Given the description of an element on the screen output the (x, y) to click on. 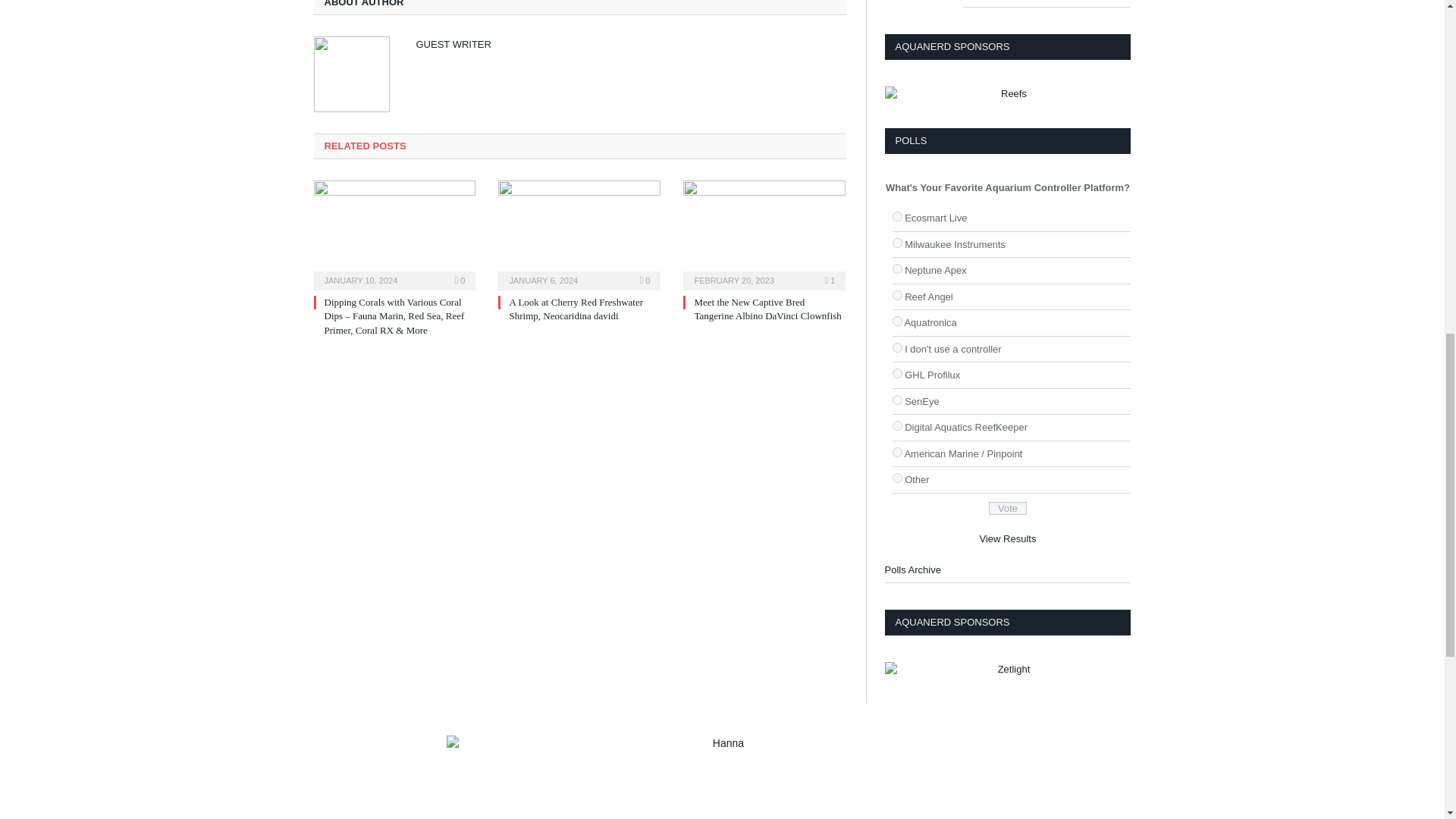
74 (896, 268)
77 (896, 243)
80 (896, 347)
71 (896, 452)
73 (896, 399)
70 (896, 320)
   Vote    (1007, 508)
72 (896, 373)
79 (896, 478)
75 (896, 295)
